Given the description of an element on the screen output the (x, y) to click on. 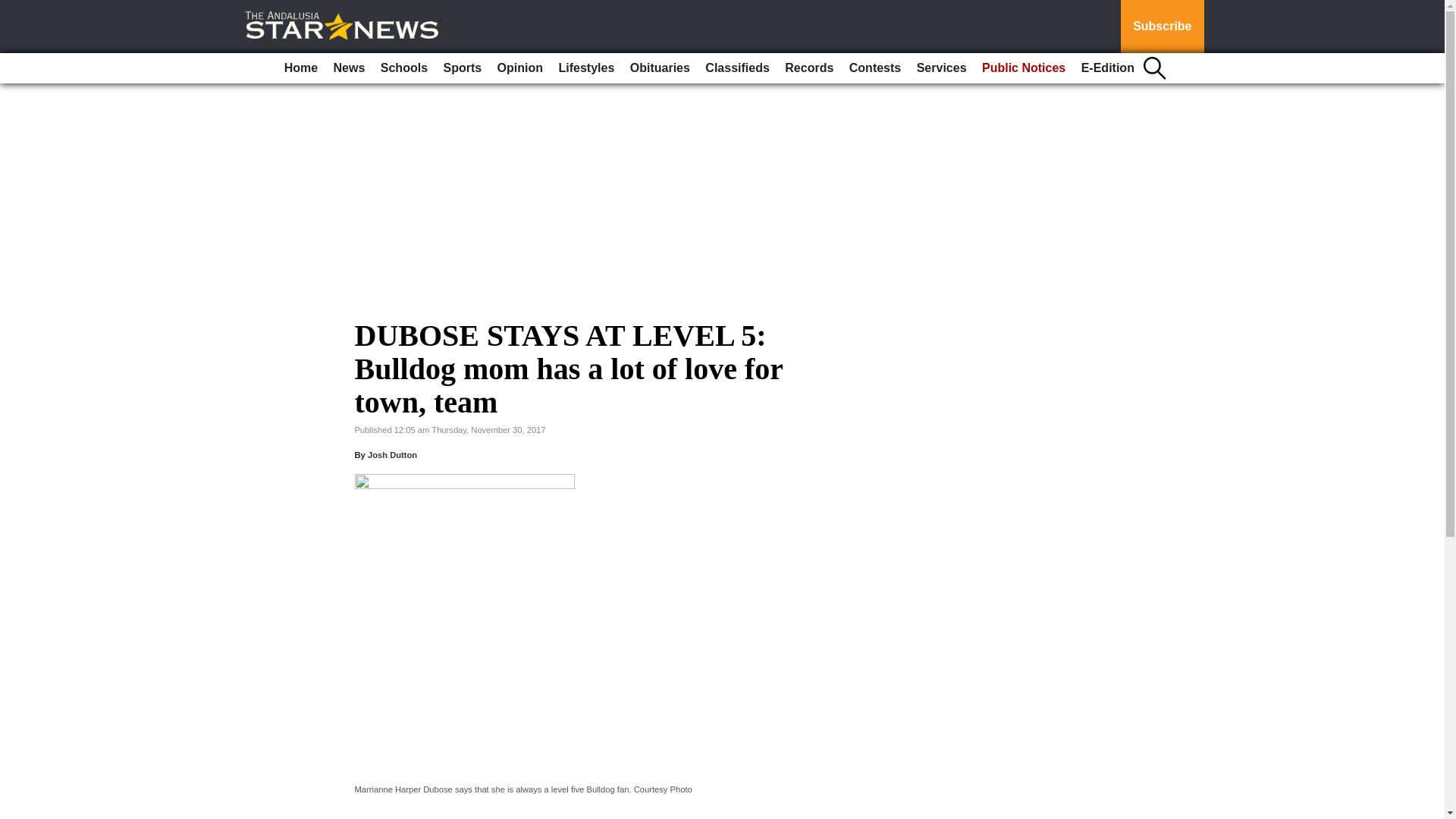
Go (13, 9)
Josh Dutton (392, 454)
Schools (403, 68)
Classifieds (736, 68)
Home (300, 68)
Contests (875, 68)
Records (809, 68)
Subscribe (1162, 26)
Obituaries (659, 68)
Lifestyles (585, 68)
